Given the description of an element on the screen output the (x, y) to click on. 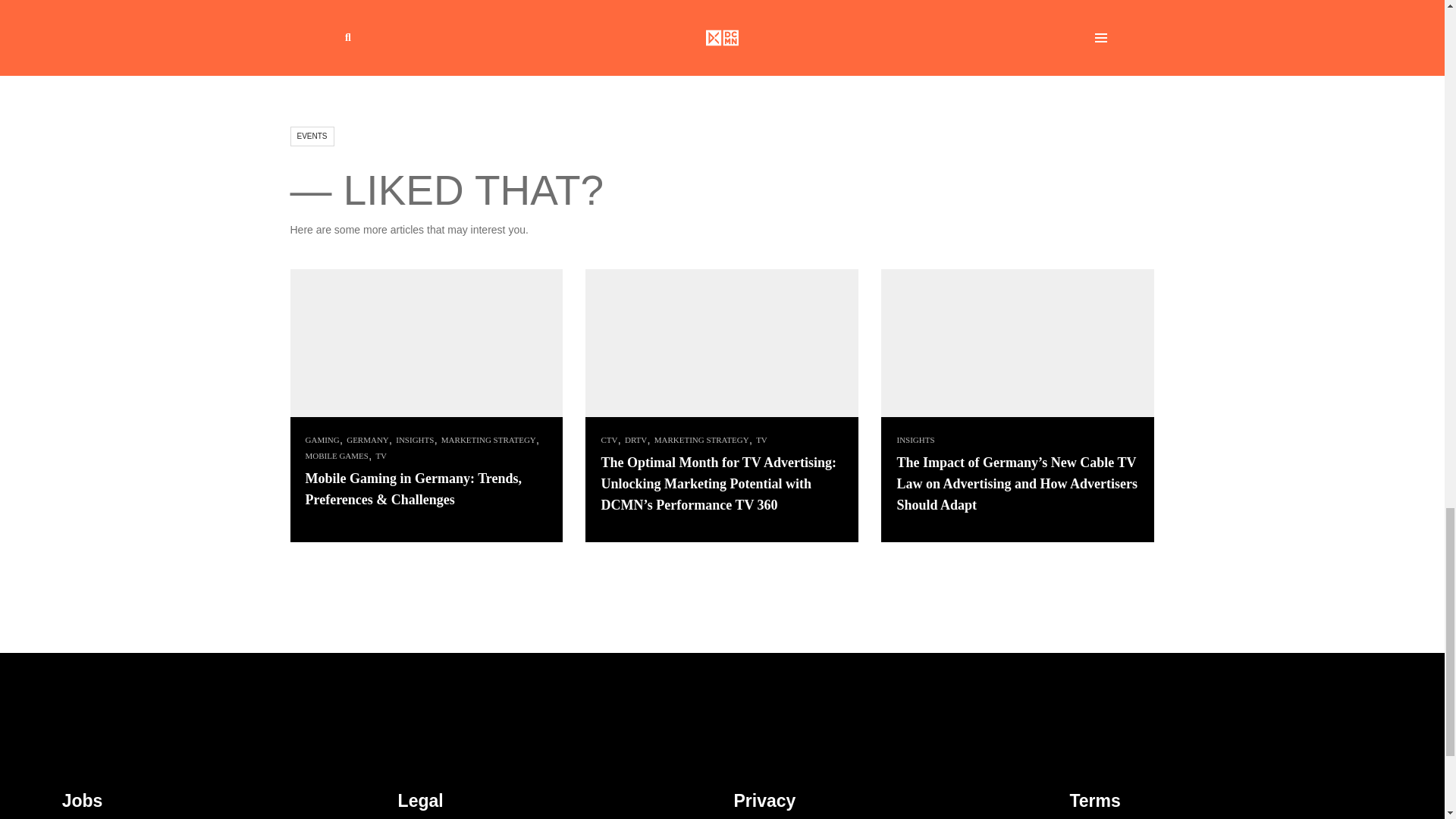
MARKETING STRATEGY (486, 439)
TV (759, 439)
MARKETING STRATEGY (699, 439)
CTV (606, 439)
INSIGHTS (913, 439)
EVENTS (311, 136)
INSIGHTS (412, 439)
MOBILE GAMES (334, 455)
GERMANY (365, 439)
GAMING (320, 439)
